Given the description of an element on the screen output the (x, y) to click on. 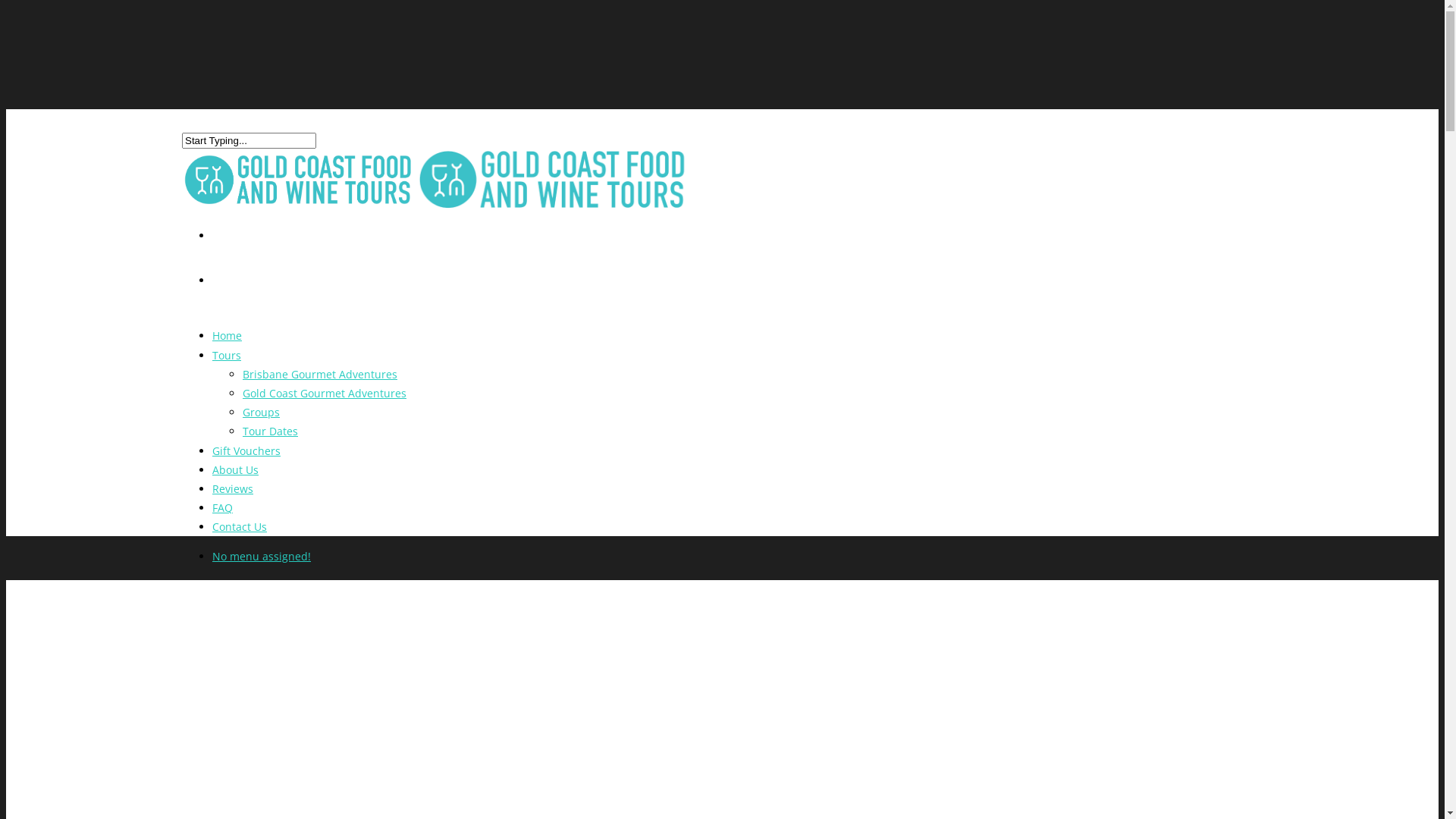
Groups Element type: text (260, 411)
Gold Coast Gourmet Adventures Element type: text (324, 392)
Gift Vouchers Element type: text (246, 460)
Reviews Element type: text (232, 498)
Tours Element type: text (226, 365)
About Us Element type: text (235, 479)
Contact Us Element type: text (239, 536)
No menu assigned! Element type: text (261, 556)
Brisbane Gourmet Adventures Element type: text (319, 374)
Home Element type: text (226, 345)
FAQ Element type: text (222, 517)
Tour Dates Element type: text (270, 430)
